Given the description of an element on the screen output the (x, y) to click on. 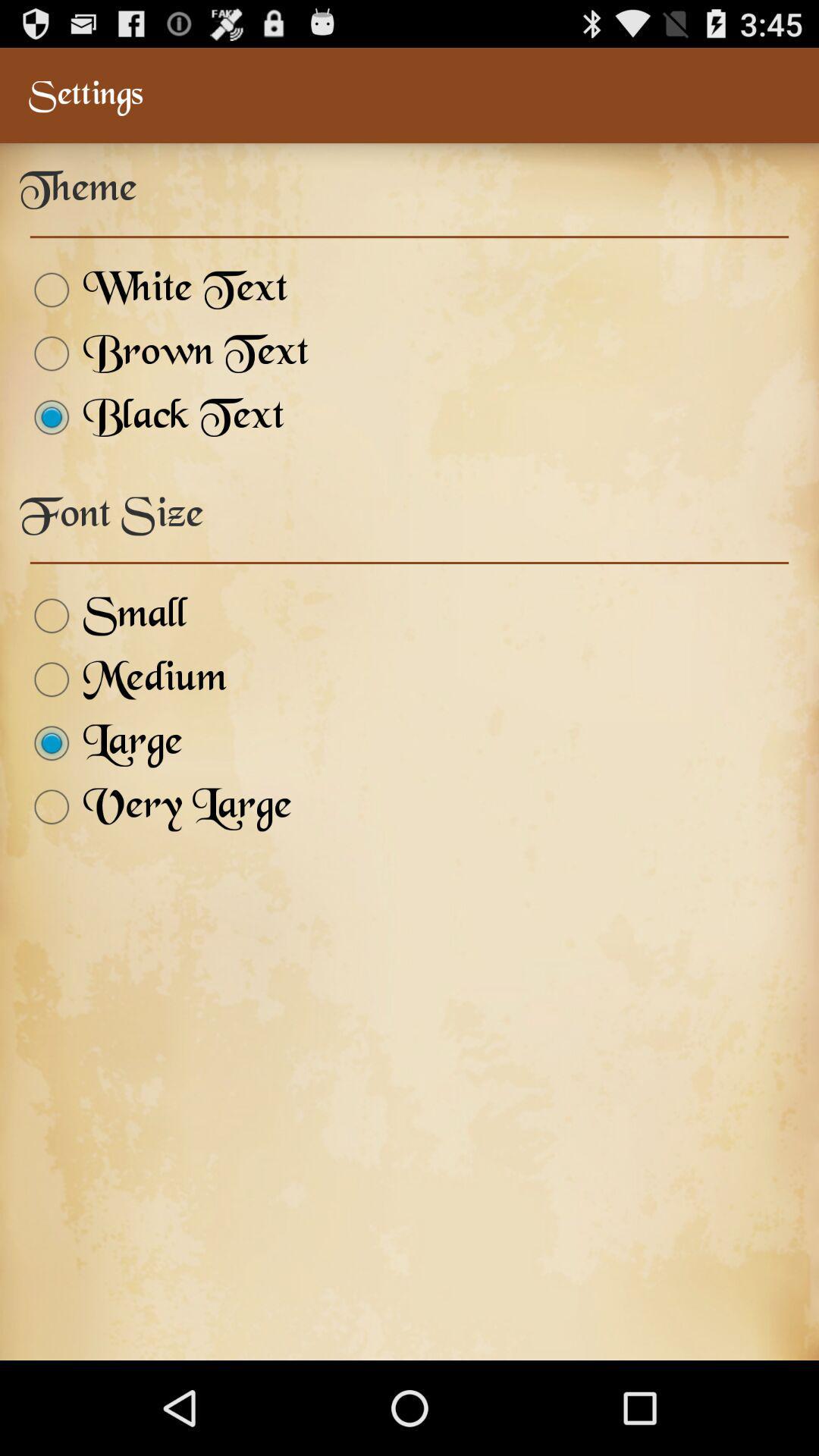
flip to the brown text icon (163, 353)
